Given the description of an element on the screen output the (x, y) to click on. 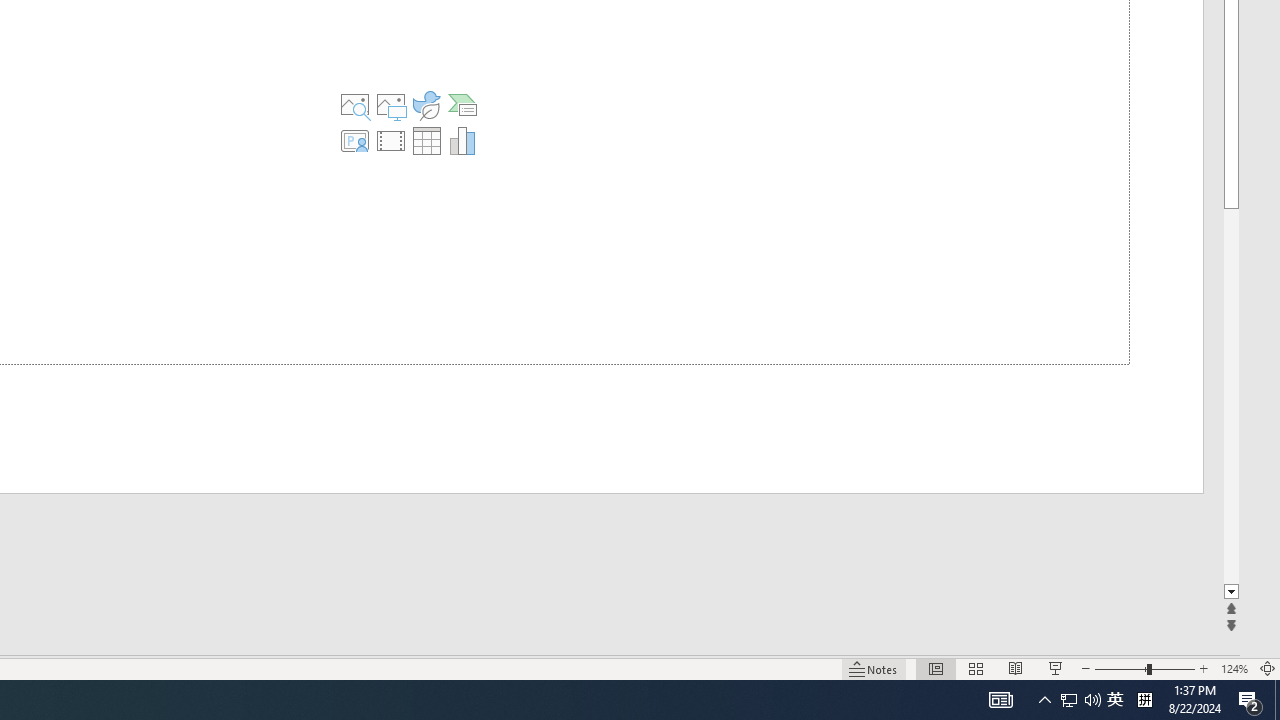
Stock Images (355, 104)
Insert an Icon (426, 104)
Insert Video (391, 140)
Insert Cameo (355, 140)
Insert Chart (462, 140)
Insert a SmartArt Graphic (462, 104)
Pictures (391, 104)
Zoom 124% (1234, 668)
